Given the description of an element on the screen output the (x, y) to click on. 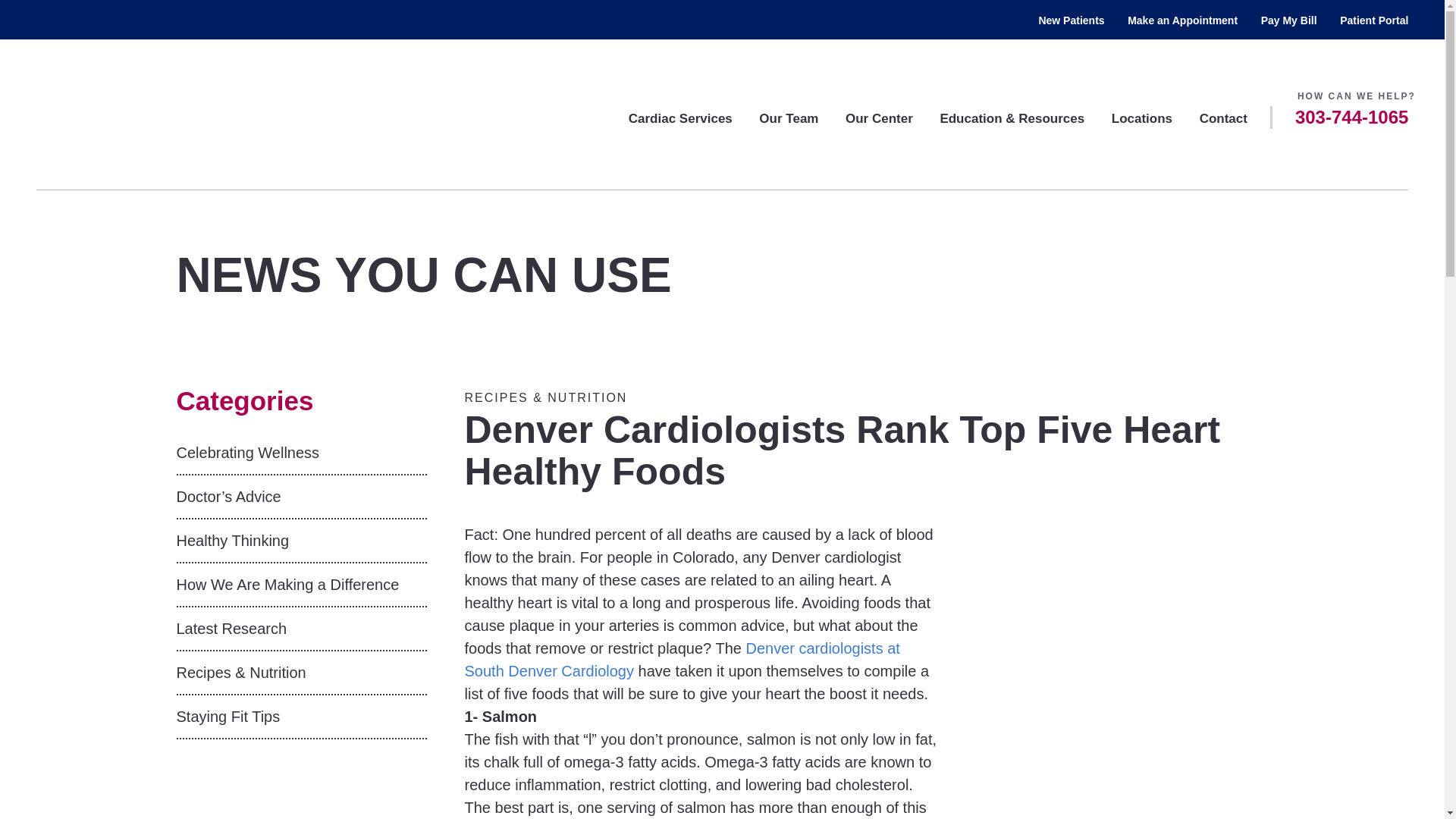
Our Center (878, 118)
Our Team (788, 118)
Pay My Bill (1288, 20)
New Patients (1070, 20)
Patient Portal (1373, 20)
Make an Appointment (1181, 20)
Cardiac Services (680, 118)
